Given the description of an element on the screen output the (x, y) to click on. 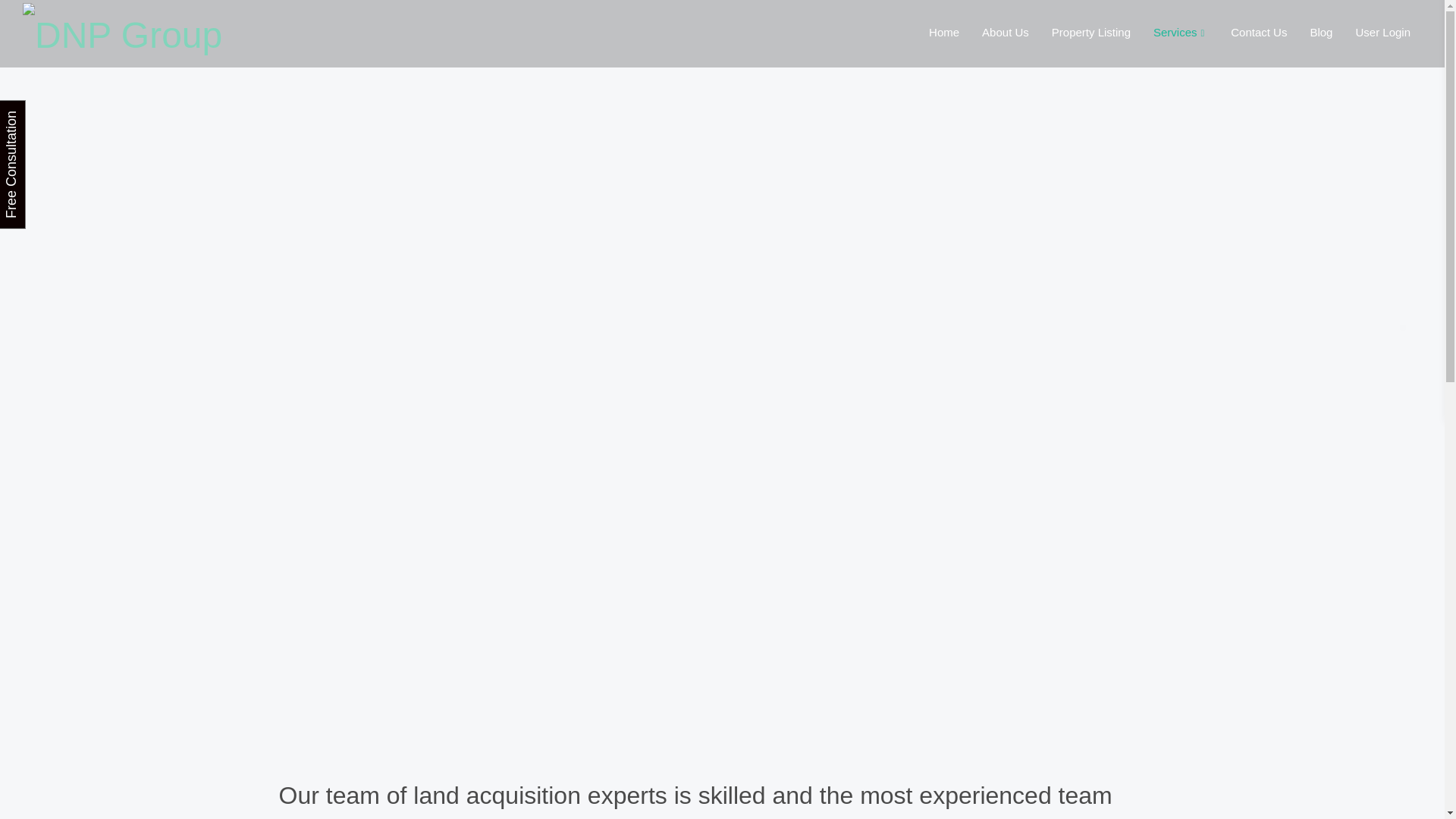
DNP Group (122, 32)
Property Listing (1091, 32)
Services (1180, 32)
About Us (1006, 32)
Contact Us (1259, 32)
User Login (1382, 32)
